Given the description of an element on the screen output the (x, y) to click on. 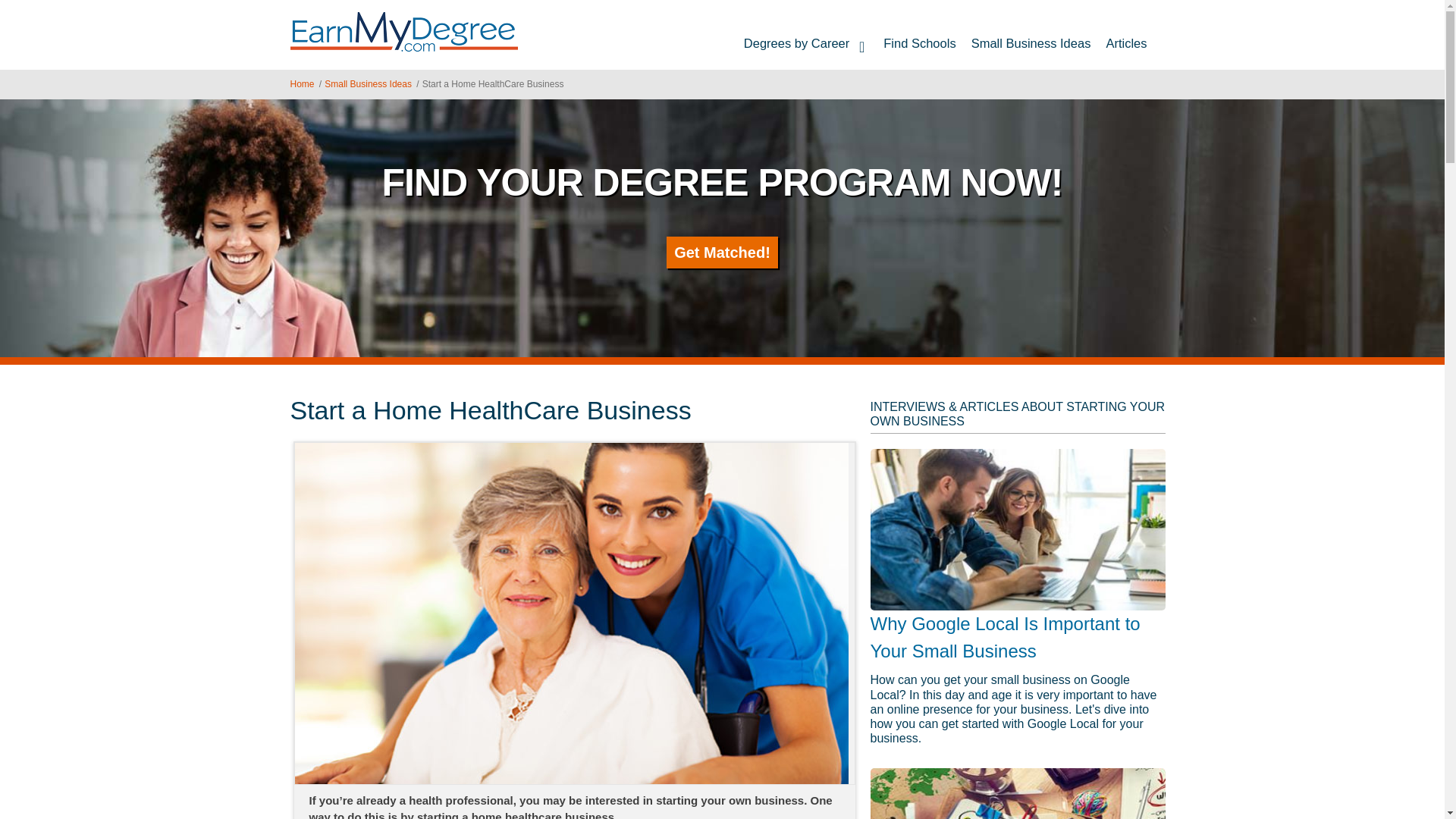
Small Business Ideas (368, 83)
Why Google Local Is Important to Your Small Business (1005, 636)
Find Schools (919, 42)
Google Local for Your Small Business (1018, 529)
Home (402, 31)
Articles (1125, 42)
Top 5 Social Activities to Grow Your Business (1018, 793)
Get Matched! (721, 252)
Small Business Ideas (1031, 42)
Degrees by Career (806, 42)
